Given the description of an element on the screen output the (x, y) to click on. 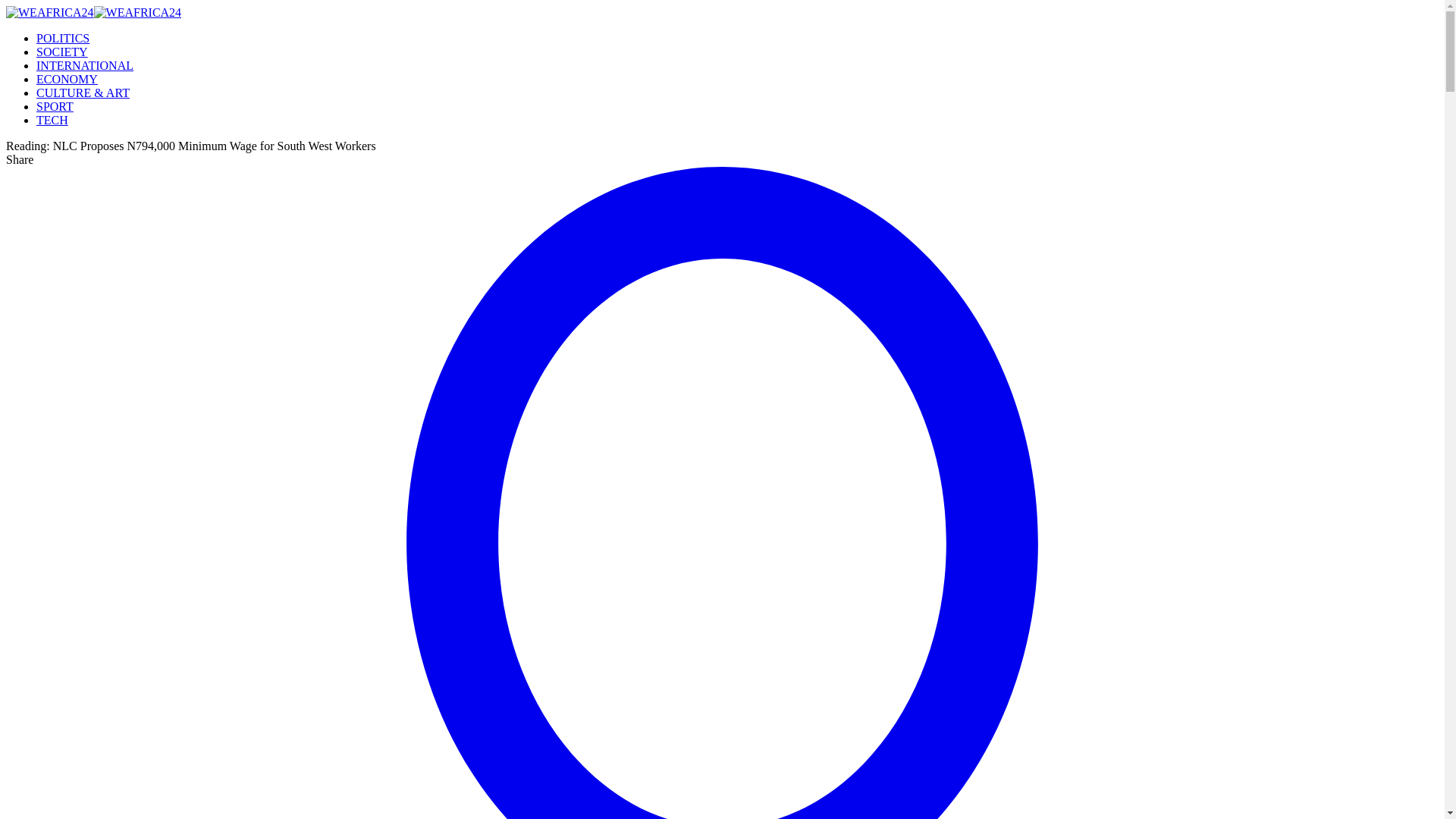
ECONOMY (66, 78)
SOCIETY (61, 51)
POLITICS (62, 38)
WEAFRICA24 (92, 11)
TECH (52, 119)
INTERNATIONAL (84, 65)
SPORT (55, 106)
